Given the description of an element on the screen output the (x, y) to click on. 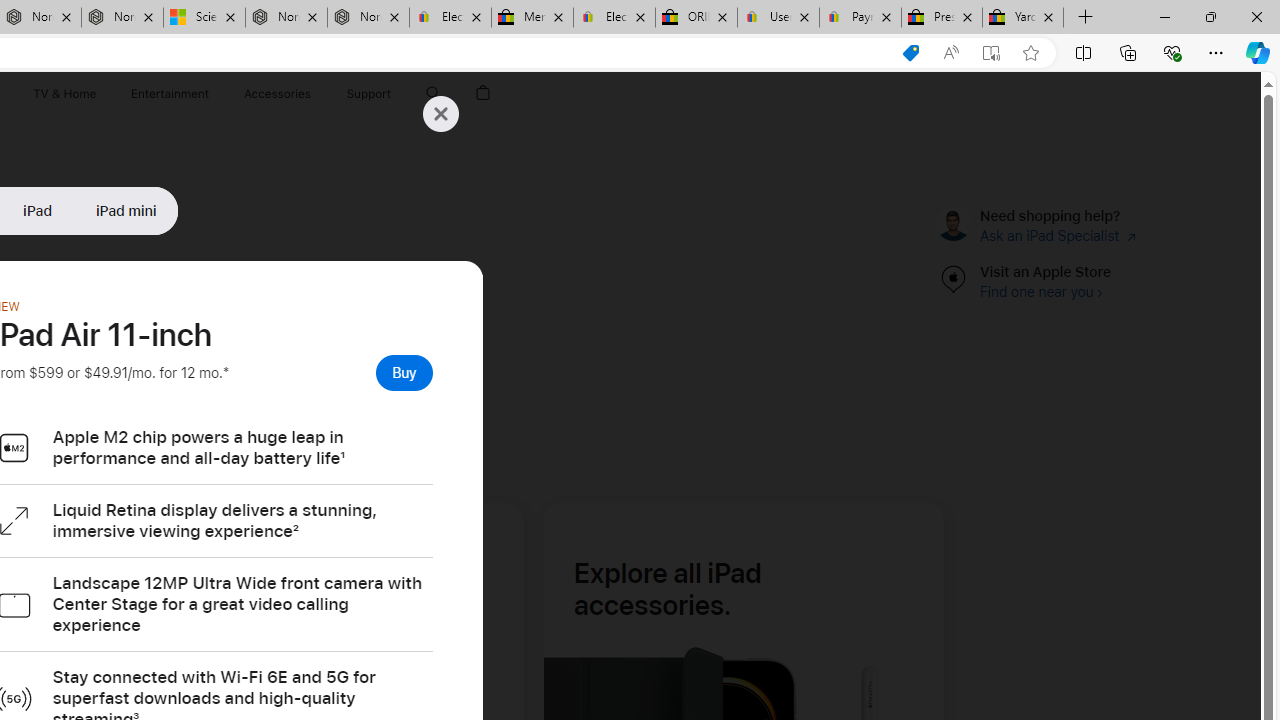
Press Room - eBay Inc. (941, 17)
Nordace - FAQ (368, 17)
Nordace - Summer Adventures 2024 (285, 17)
iPad mini (125, 210)
